Given the description of an element on the screen output the (x, y) to click on. 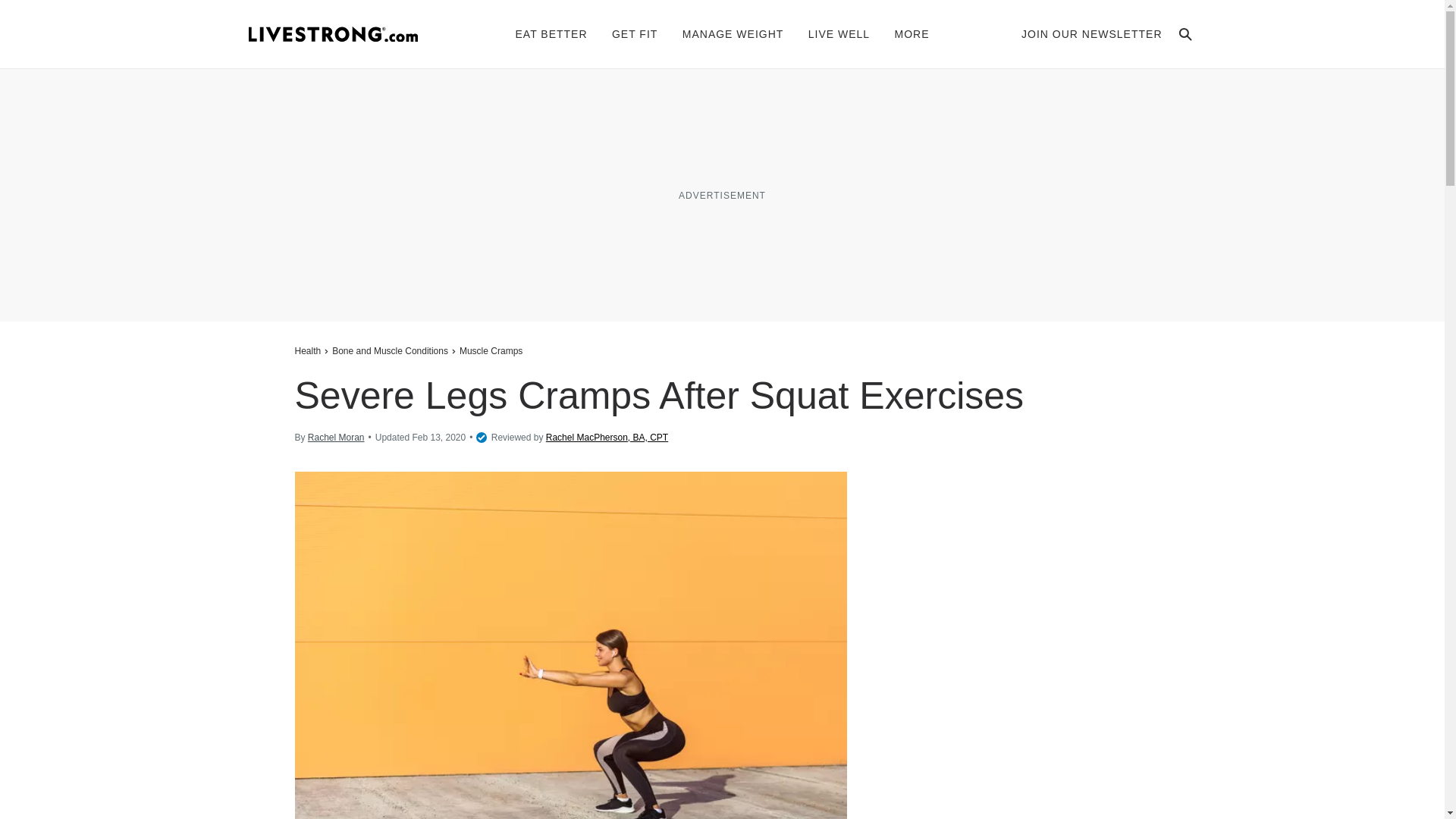
LIVE WELL (838, 33)
Health (309, 350)
Rachel MacPherson, BA, CPT (607, 437)
GET FIT (634, 33)
EAT BETTER (551, 33)
Rachel Moran (336, 437)
MANAGE WEIGHT (733, 33)
Bone and Muscle Conditions (390, 350)
Muscle Cramps (490, 350)
JOIN OUR NEWSLETTER (1091, 33)
